Given the description of an element on the screen output the (x, y) to click on. 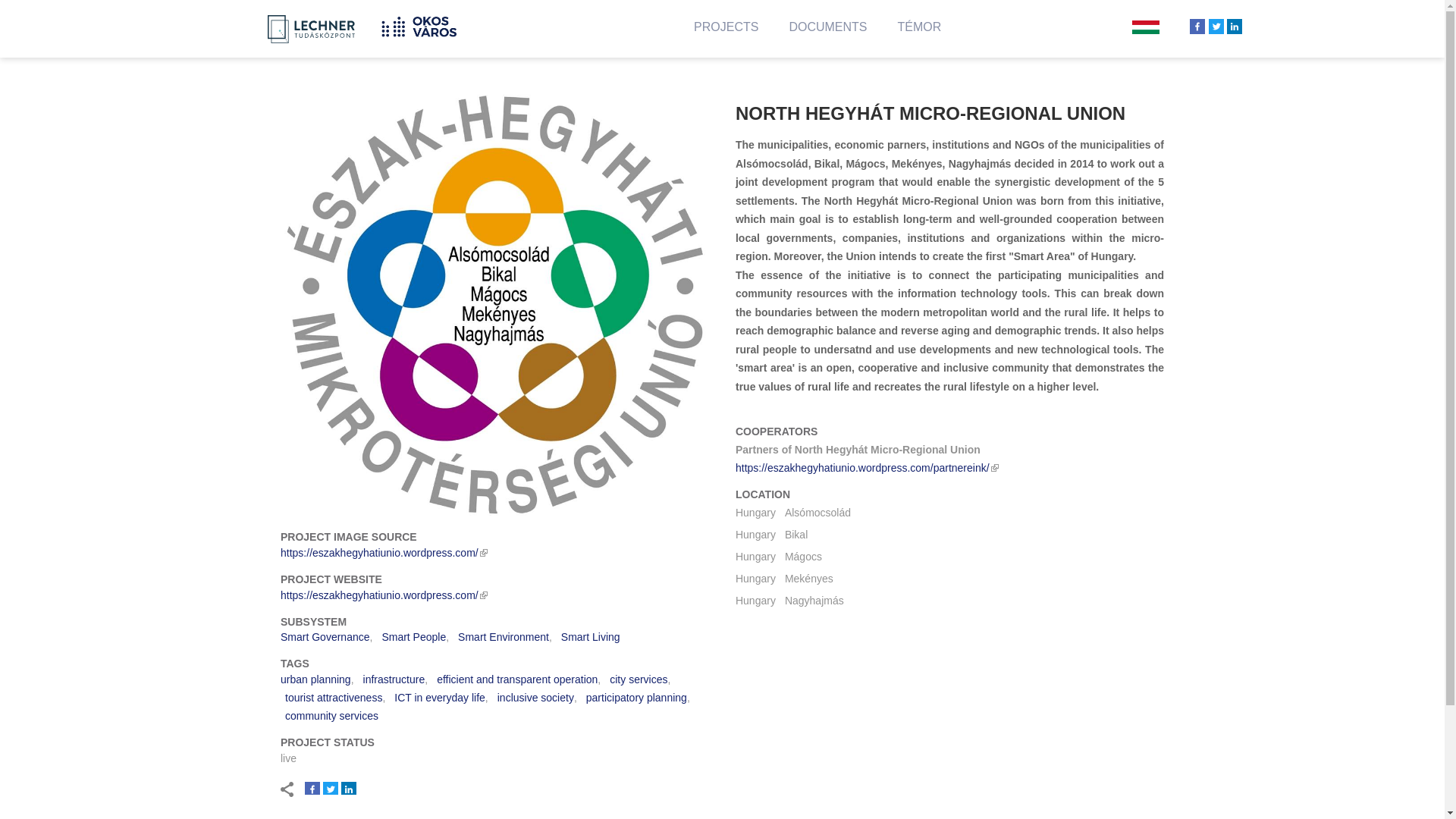
Smart Living (590, 636)
Smart People (413, 636)
Share on Facebook (312, 789)
urban planning (315, 679)
city services (638, 679)
Home (282, 24)
participatory planning (636, 697)
inclusive society (535, 697)
Home (424, 24)
Share on Twitter (330, 789)
Share on Facebook (1197, 26)
Share on LinkedIn (348, 789)
Share on LinkedIn (1234, 26)
ICT in everyday life (439, 697)
community services (331, 715)
